Given the description of an element on the screen output the (x, y) to click on. 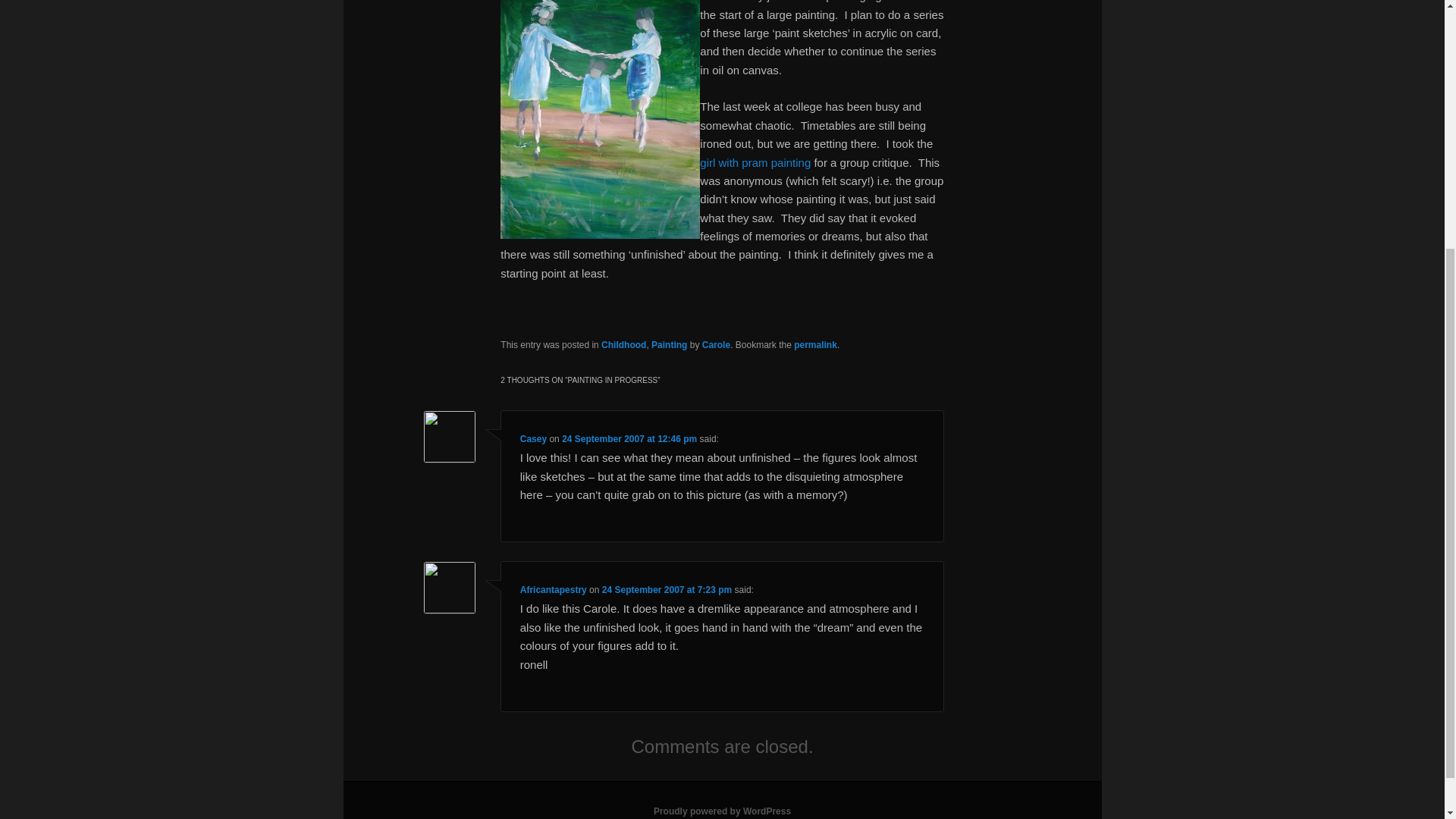
girl with pram painting (755, 162)
Childhood (623, 344)
24 September 2007 at 12:46 pm (629, 439)
girl with pram (755, 162)
permalink (815, 344)
Carole (715, 344)
Africantapestry (552, 589)
Casey (533, 439)
Permalink to Painting in progress (815, 344)
24 September 2007 at 7:23 pm (667, 589)
Proudly powered by WordPress (721, 810)
Painting (668, 344)
Semantic Personal Publishing Platform (721, 810)
